Given the description of an element on the screen output the (x, y) to click on. 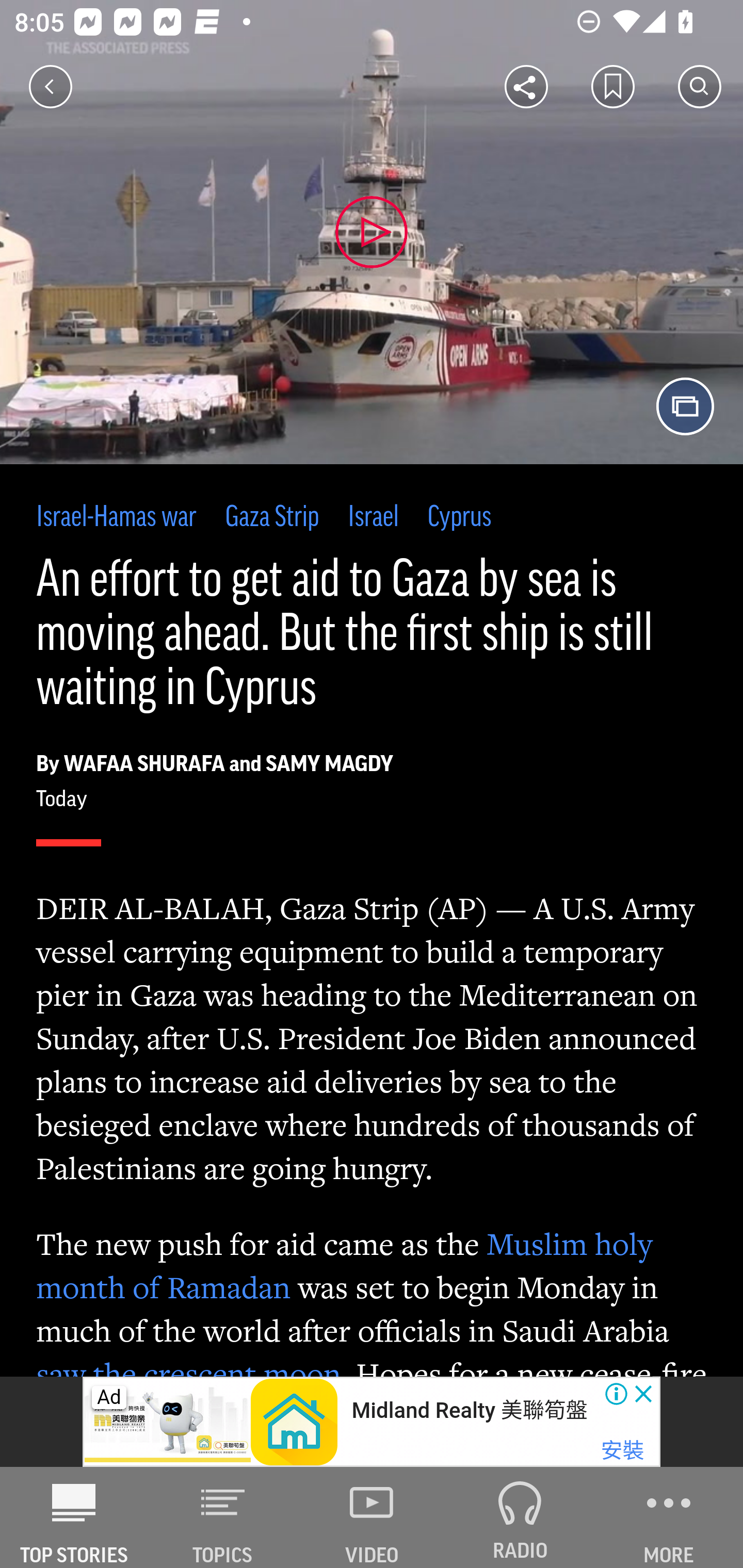
Israel-Hamas war (117, 518)
Gaza Strip (271, 518)
Israel (373, 518)
Cyprus (459, 518)
Muslim holy month of Ramadan (344, 1266)
B29047822 (168, 1421)
Midland Realty 美聯筍盤 (468, 1410)
安裝 (621, 1450)
AP News TOP STORIES (74, 1517)
TOPICS (222, 1517)
VIDEO (371, 1517)
RADIO (519, 1517)
MORE (668, 1517)
